Given the description of an element on the screen output the (x, y) to click on. 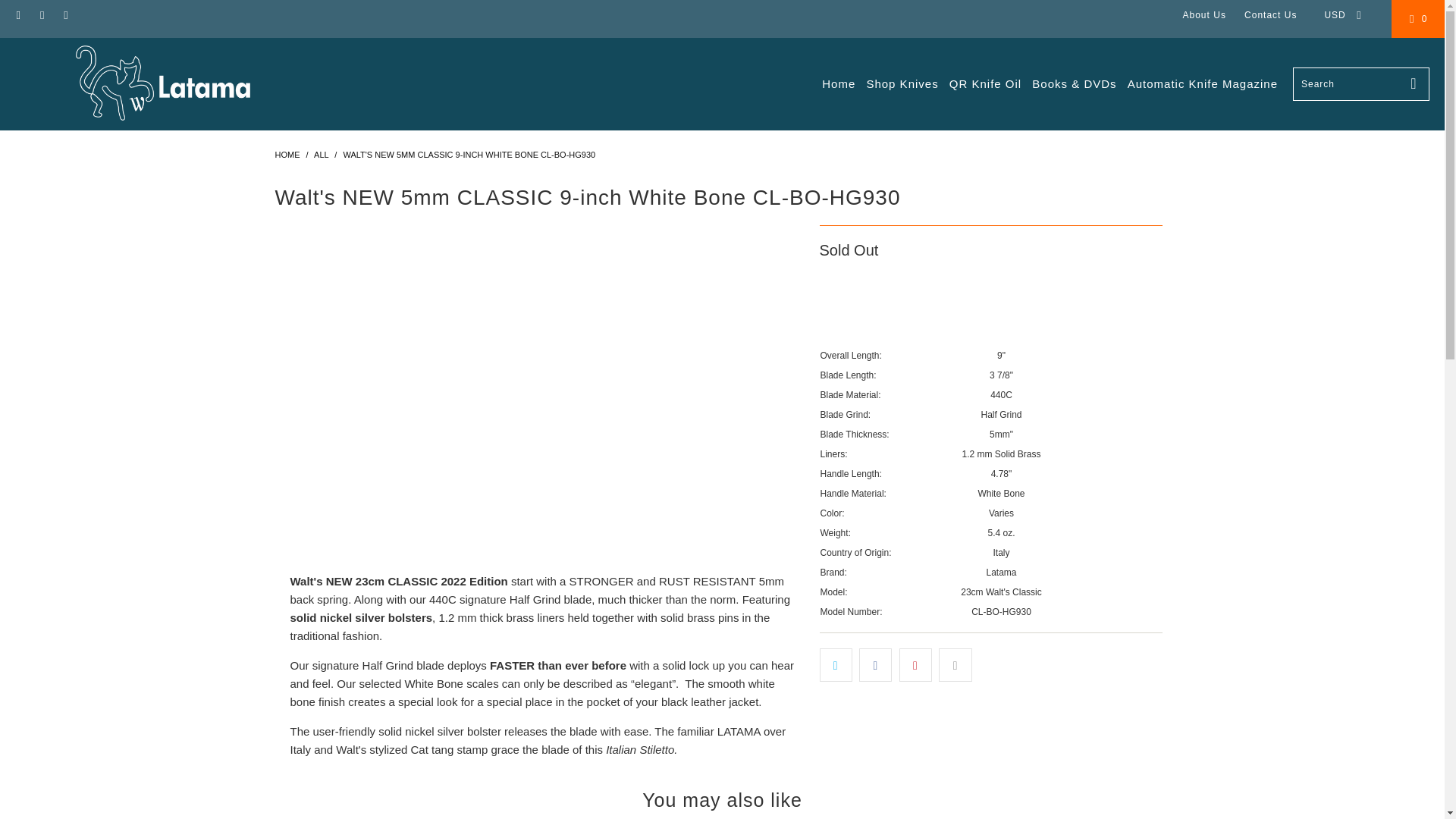
LATAMA (287, 153)
QR Knife Oil (985, 84)
LATAMA on Instagram (41, 14)
Shop Knives (901, 84)
Share this on Twitter (834, 664)
Contact Us (1270, 15)
Automatic Knife Magazine (1202, 84)
All (321, 153)
LATAMA on Facebook (17, 14)
Share this on Pinterest (915, 664)
